Given the description of an element on the screen output the (x, y) to click on. 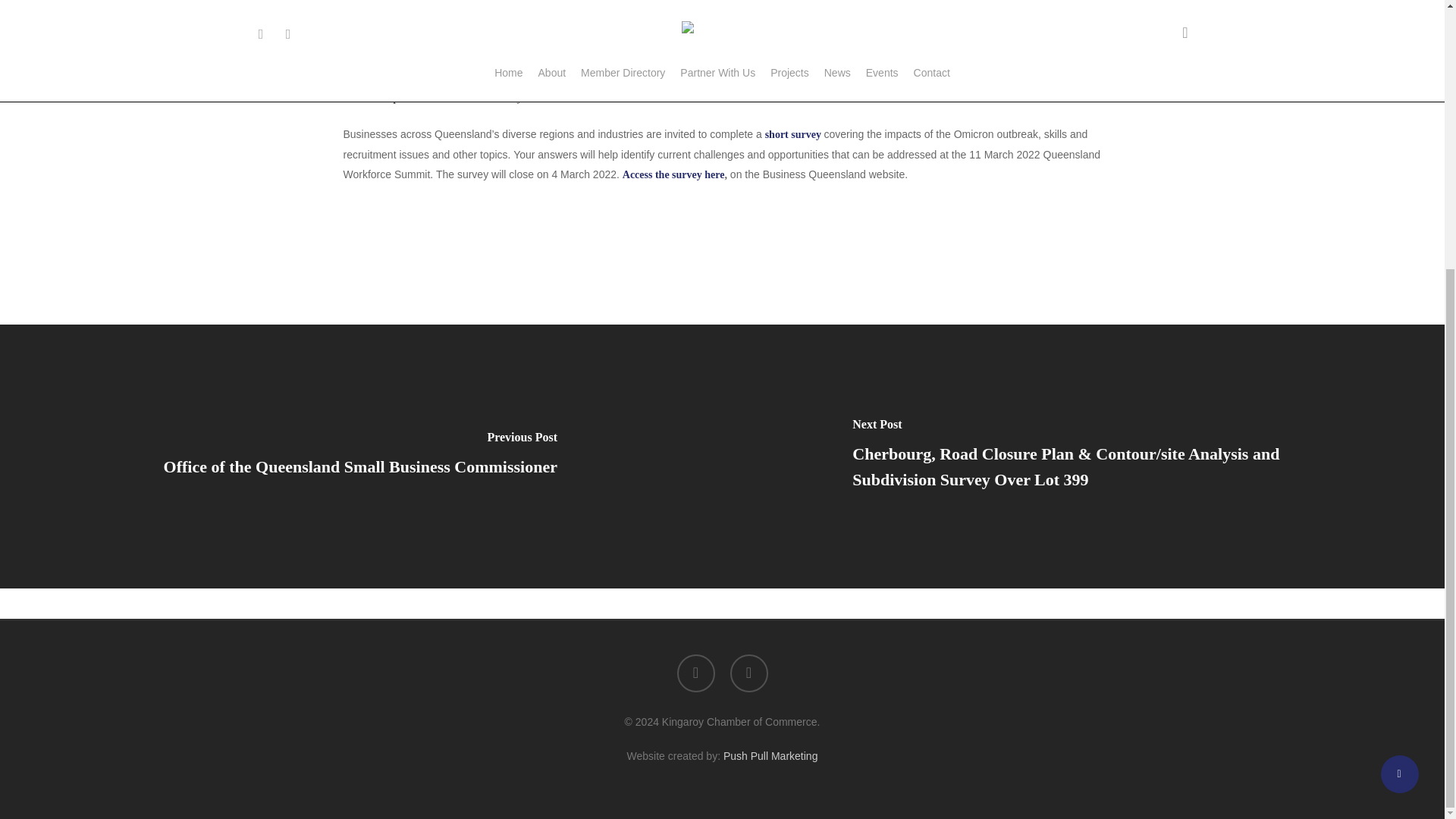
Access the survey here (674, 174)
Push Pull Marketing (770, 756)
short survey (793, 134)
email (748, 673)
facebook (695, 673)
